Given the description of an element on the screen output the (x, y) to click on. 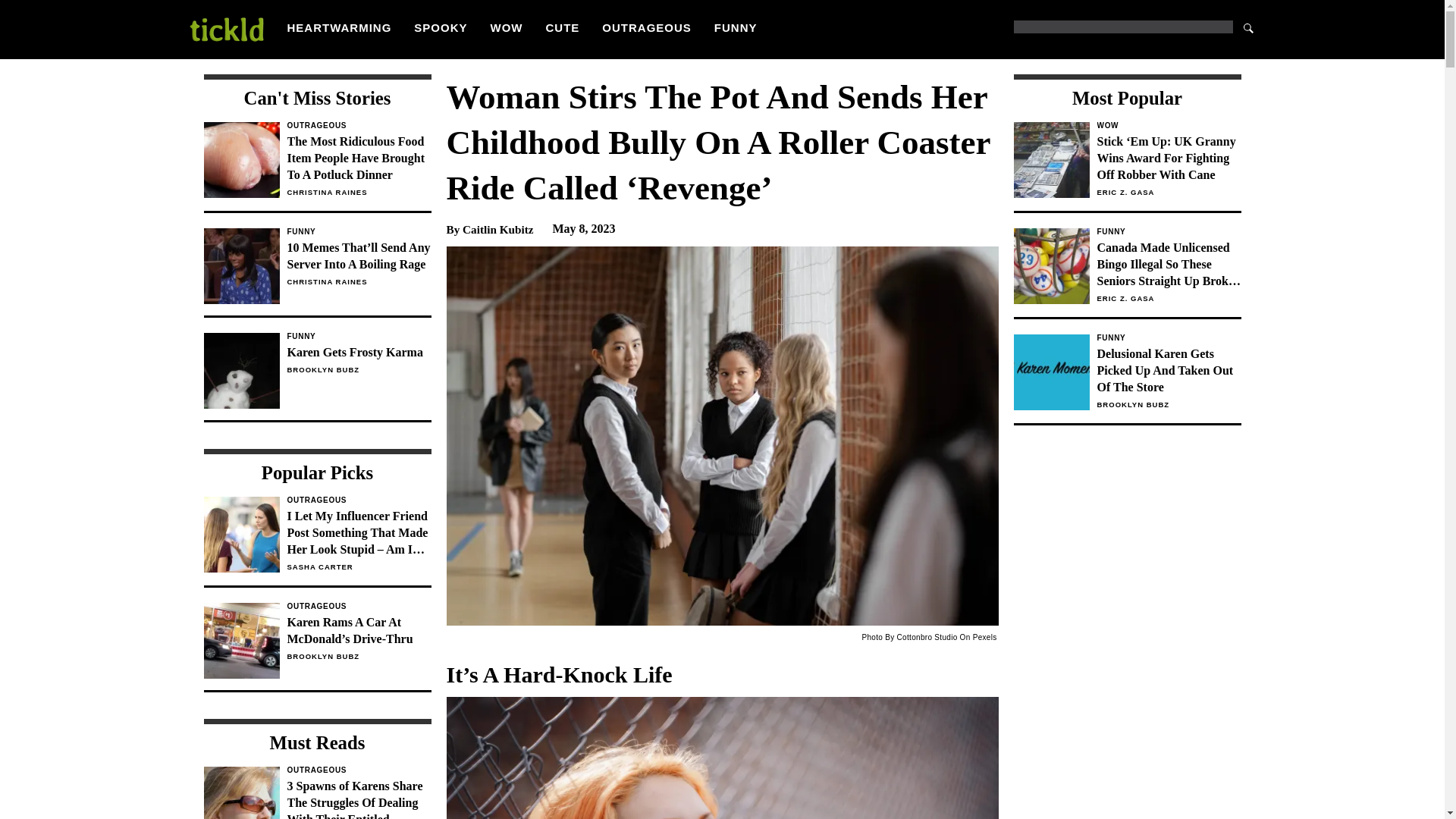
Funny (1168, 231)
OUTRAGEOUS (646, 26)
CUTE (562, 26)
Tickld (225, 29)
Funny (316, 377)
Search (1168, 338)
By Caitlin Kubitz (1248, 27)
SPOOKY (488, 228)
WOW (440, 26)
Delusional Karen Gets Picked Up And Taken Out Of The Store (1168, 125)
